Given the description of an element on the screen output the (x, y) to click on. 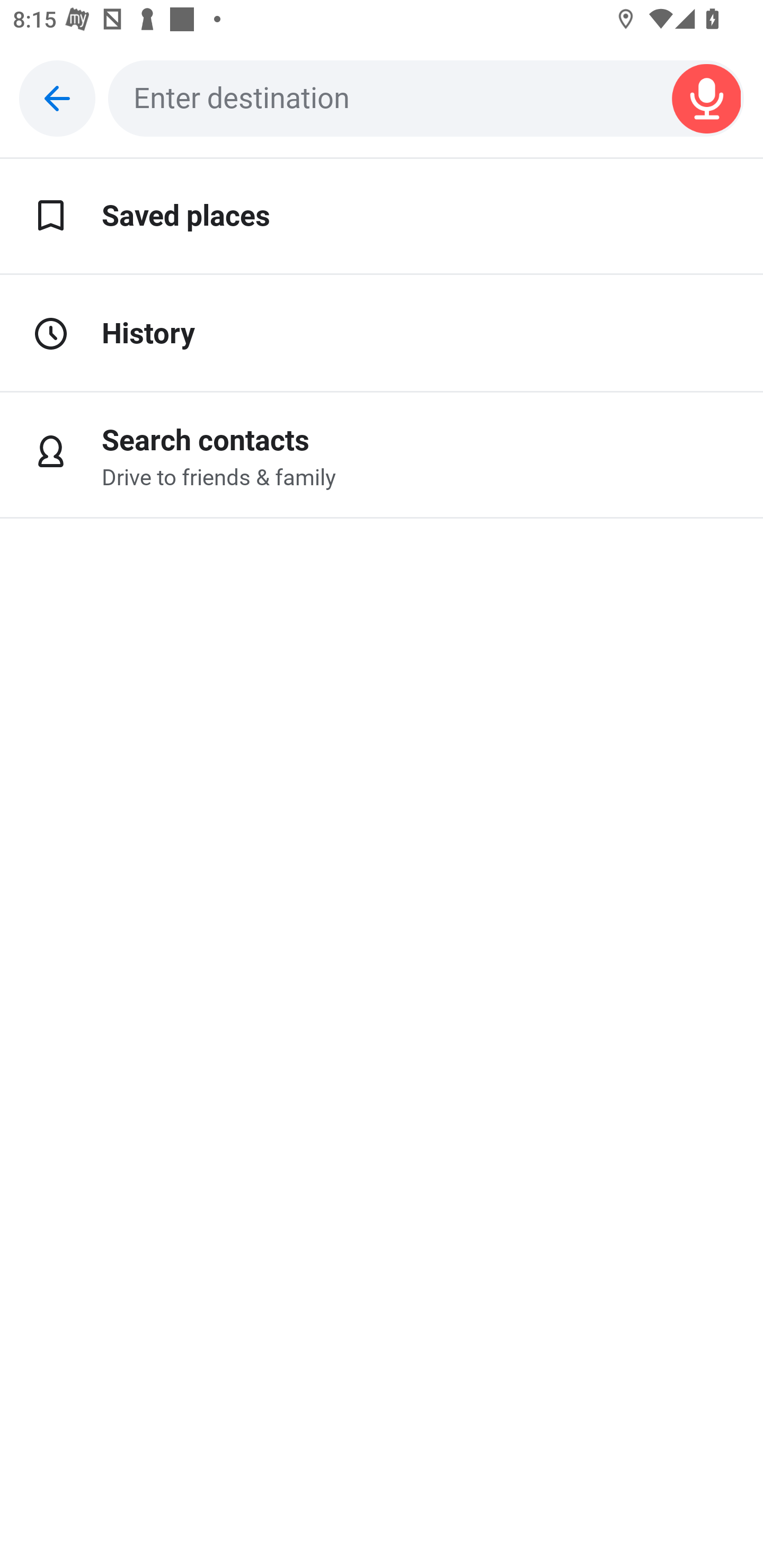
Enter destination sideMenuSearchBox (425, 98)
Saved places (381, 216)
History (381, 334)
Search contacts Drive to friends & family (381, 456)
